Given the description of an element on the screen output the (x, y) to click on. 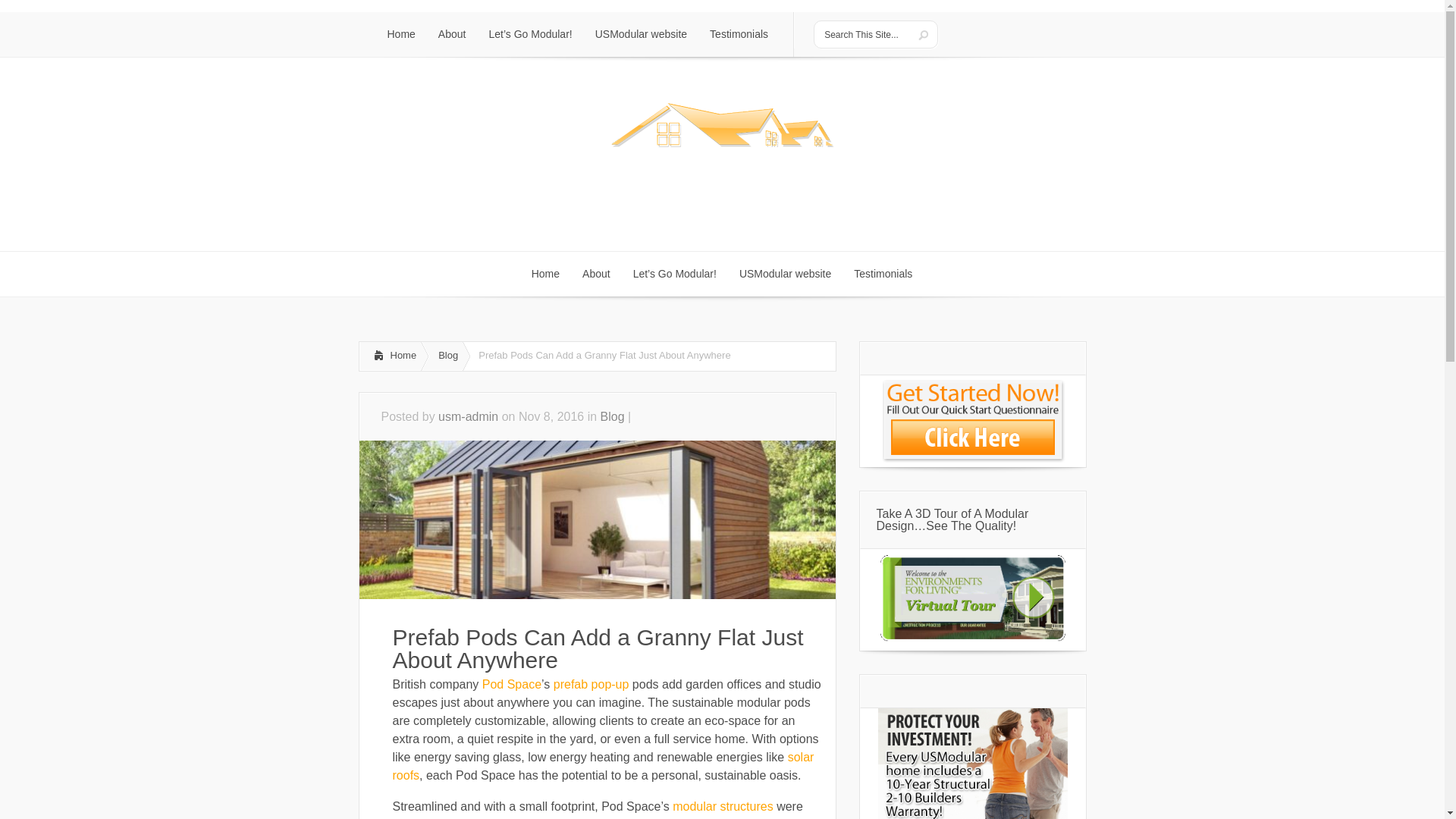
About (595, 273)
Testimonials (738, 34)
Posts by usm-admin (467, 416)
solar roofs (603, 766)
prefab pop-up (590, 684)
Blog (611, 416)
Home (400, 34)
Pod Space (511, 684)
About (451, 34)
Home (544, 273)
Blog (446, 356)
USModular website (640, 34)
usm-admin (467, 416)
Testimonials (883, 273)
Home (389, 356)
